Given the description of an element on the screen output the (x, y) to click on. 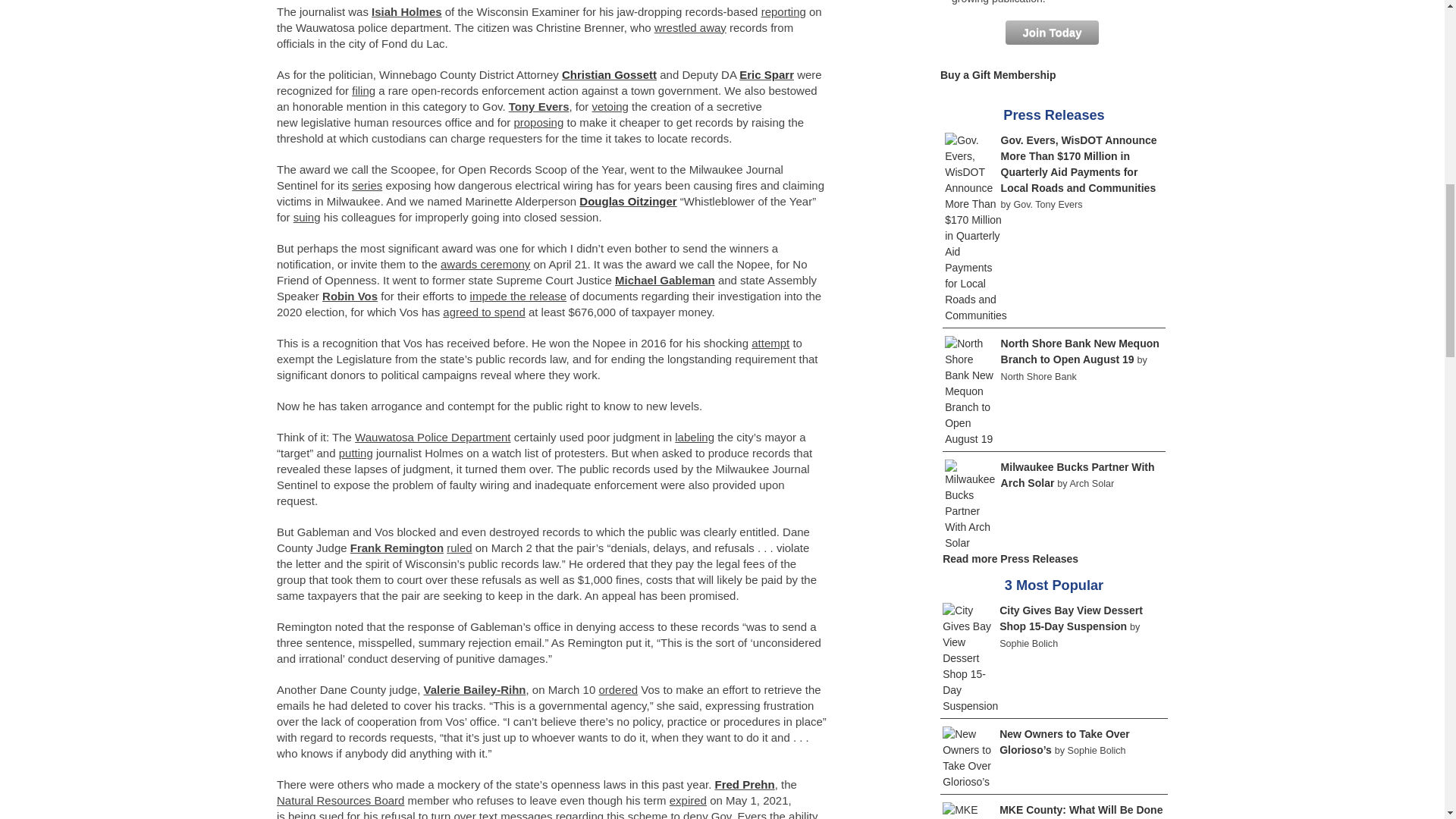
reporting (783, 11)
wrestled away (689, 27)
filing (363, 90)
Isiah Holmes (406, 11)
Eric Sparr (766, 74)
vetoing (610, 106)
Christian Gossett (609, 74)
Tony Evers (538, 106)
